Given the description of an element on the screen output the (x, y) to click on. 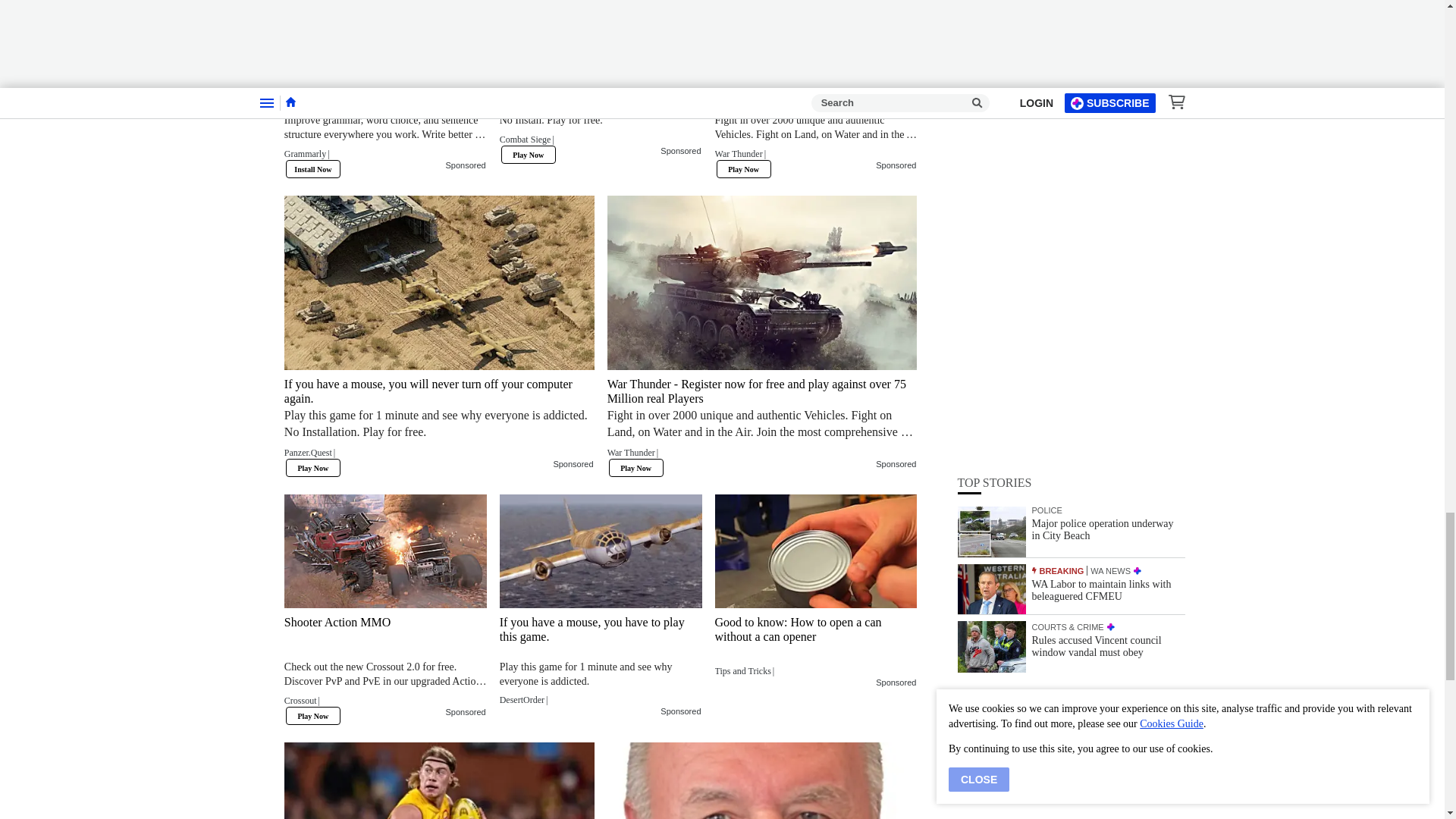
"Description: No Install. Play for free." (600, 120)
